Given the description of an element on the screen output the (x, y) to click on. 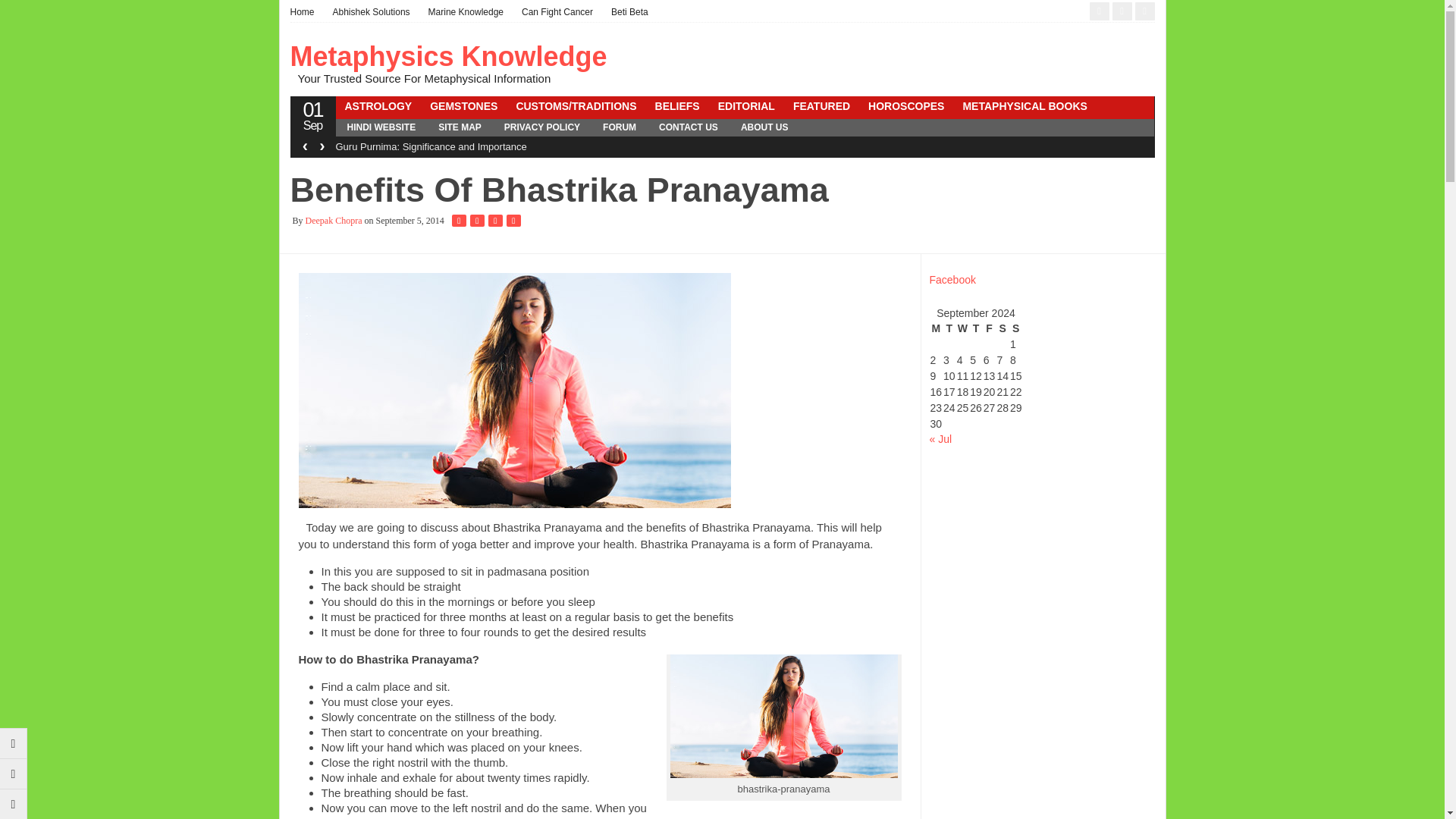
Home (306, 12)
Beti Beta (630, 12)
STRANGE BUT TRUE (397, 145)
Abhishek Solutions (371, 12)
HOROSCOPES (906, 106)
YOGA (845, 145)
MISCELLANEOUS (389, 125)
QUIZ (890, 145)
Permalink to Guru Purnima: Significance and Importance (429, 146)
BELIEFS (677, 106)
